Given the description of an element on the screen output the (x, y) to click on. 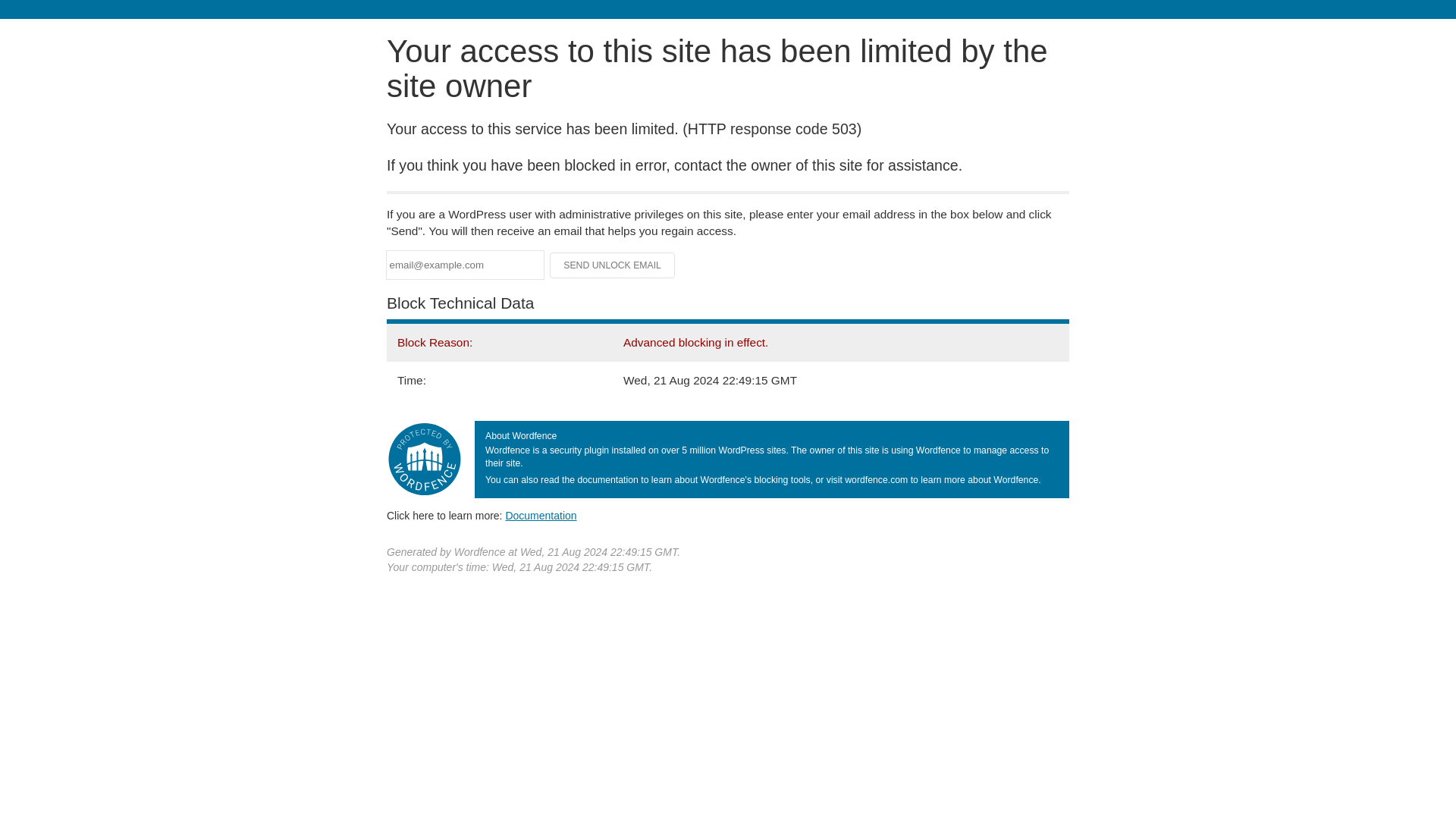
Documentation (540, 515)
Send Unlock Email (612, 265)
Send Unlock Email (612, 265)
